Given the description of an element on the screen output the (x, y) to click on. 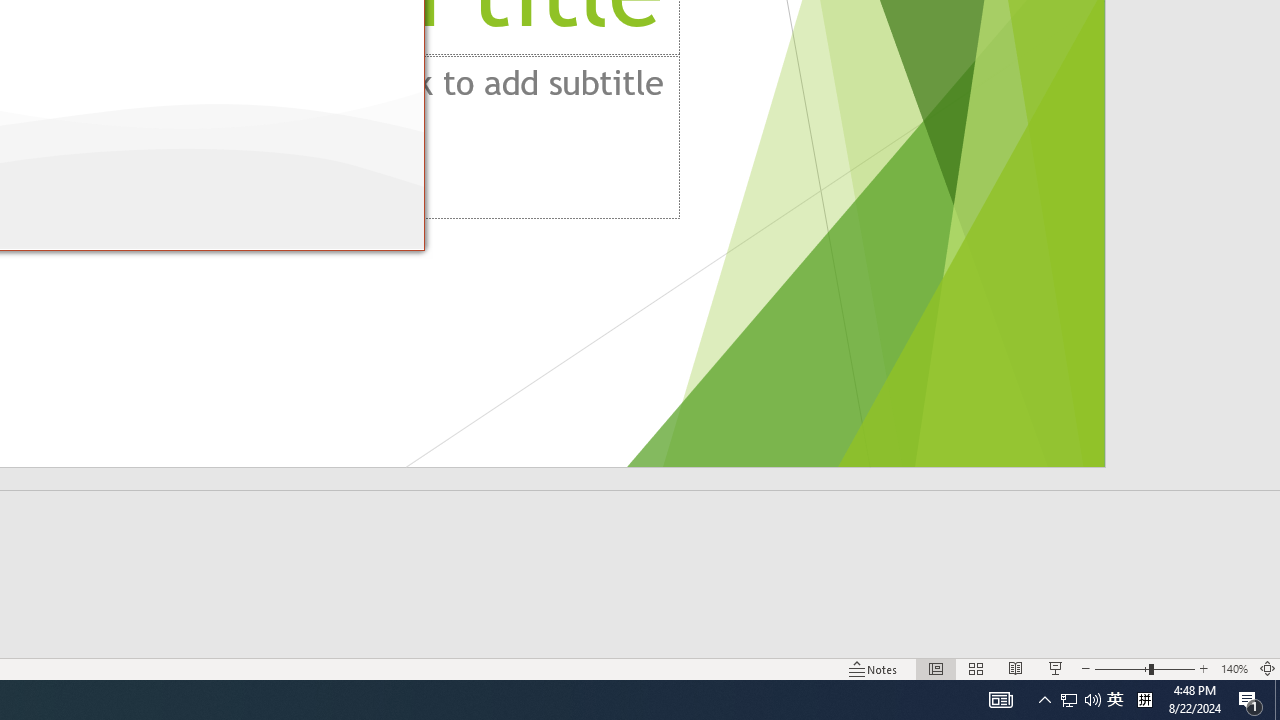
Zoom 140% (1234, 668)
Action Center, 1 new notification (1250, 699)
